Given the description of an element on the screen output the (x, y) to click on. 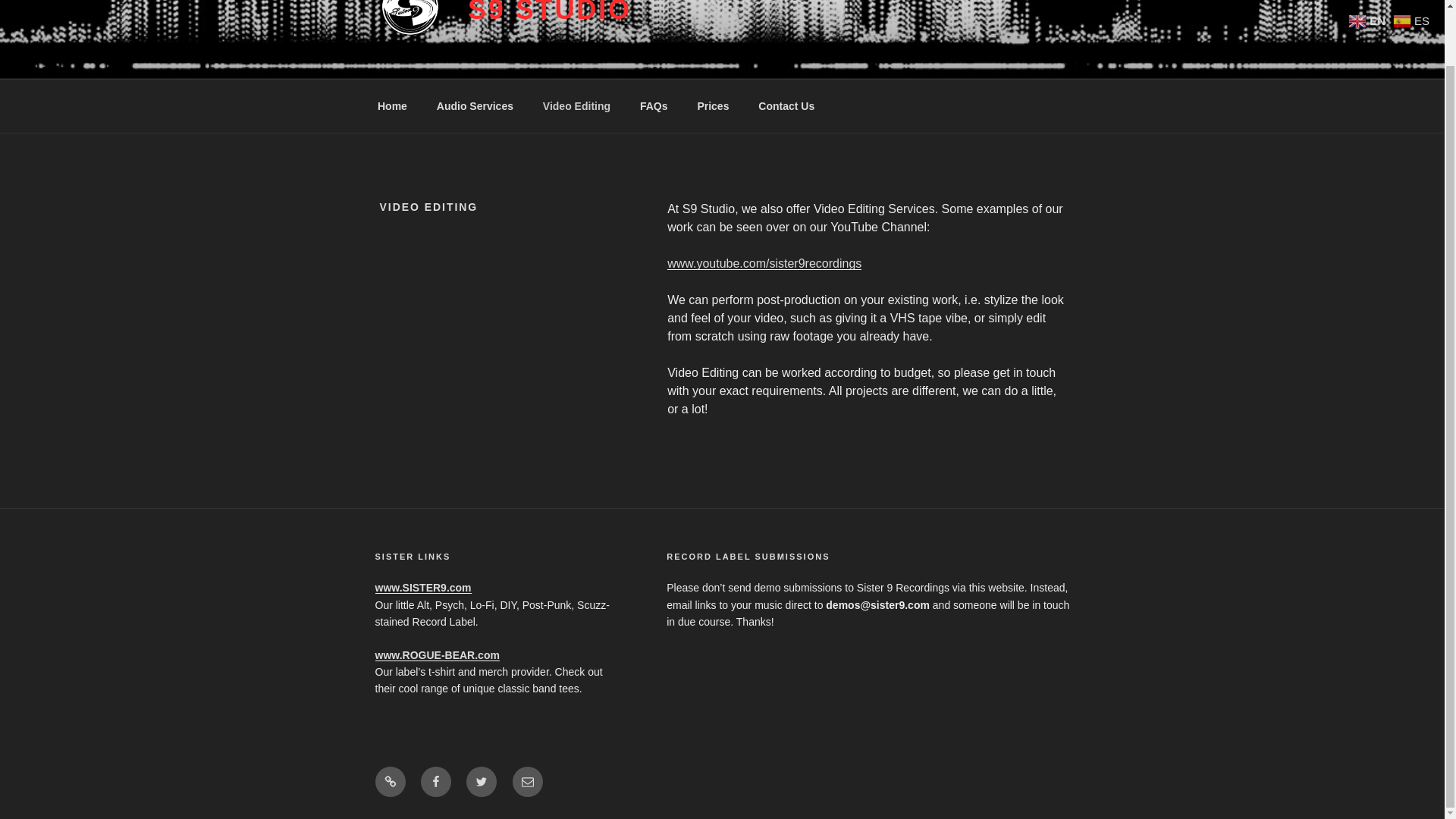
Facebook (435, 781)
Video Editing (576, 105)
Email (527, 781)
Prices (713, 105)
Twitter (480, 781)
Home (392, 105)
Audio Services (474, 105)
www.ROGUE-BEAR.com (436, 654)
S9 STUDIO (549, 12)
www.SISTER9.com (422, 587)
